Given the description of an element on the screen output the (x, y) to click on. 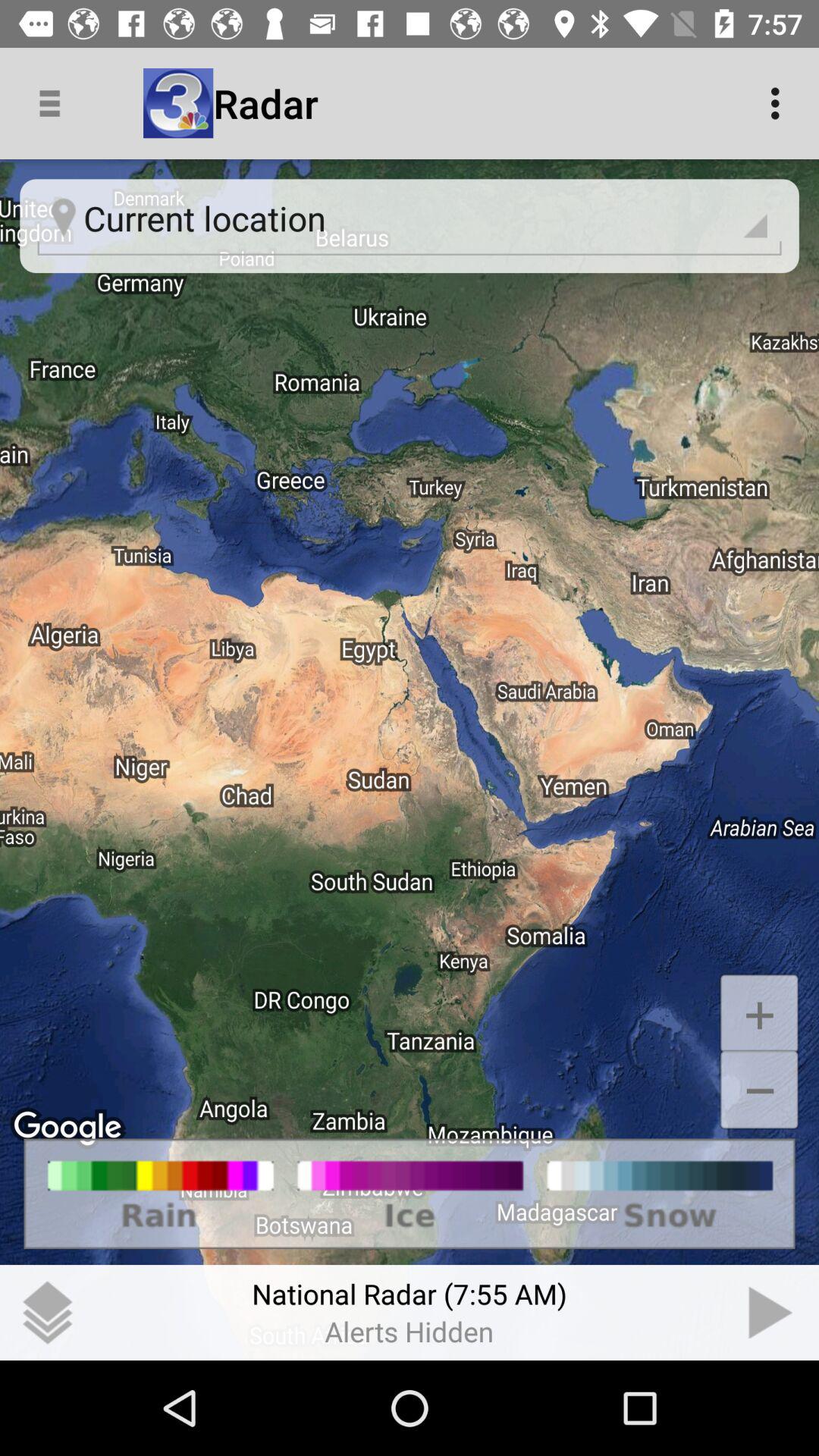
go forward in time (771, 1312)
